Given the description of an element on the screen output the (x, y) to click on. 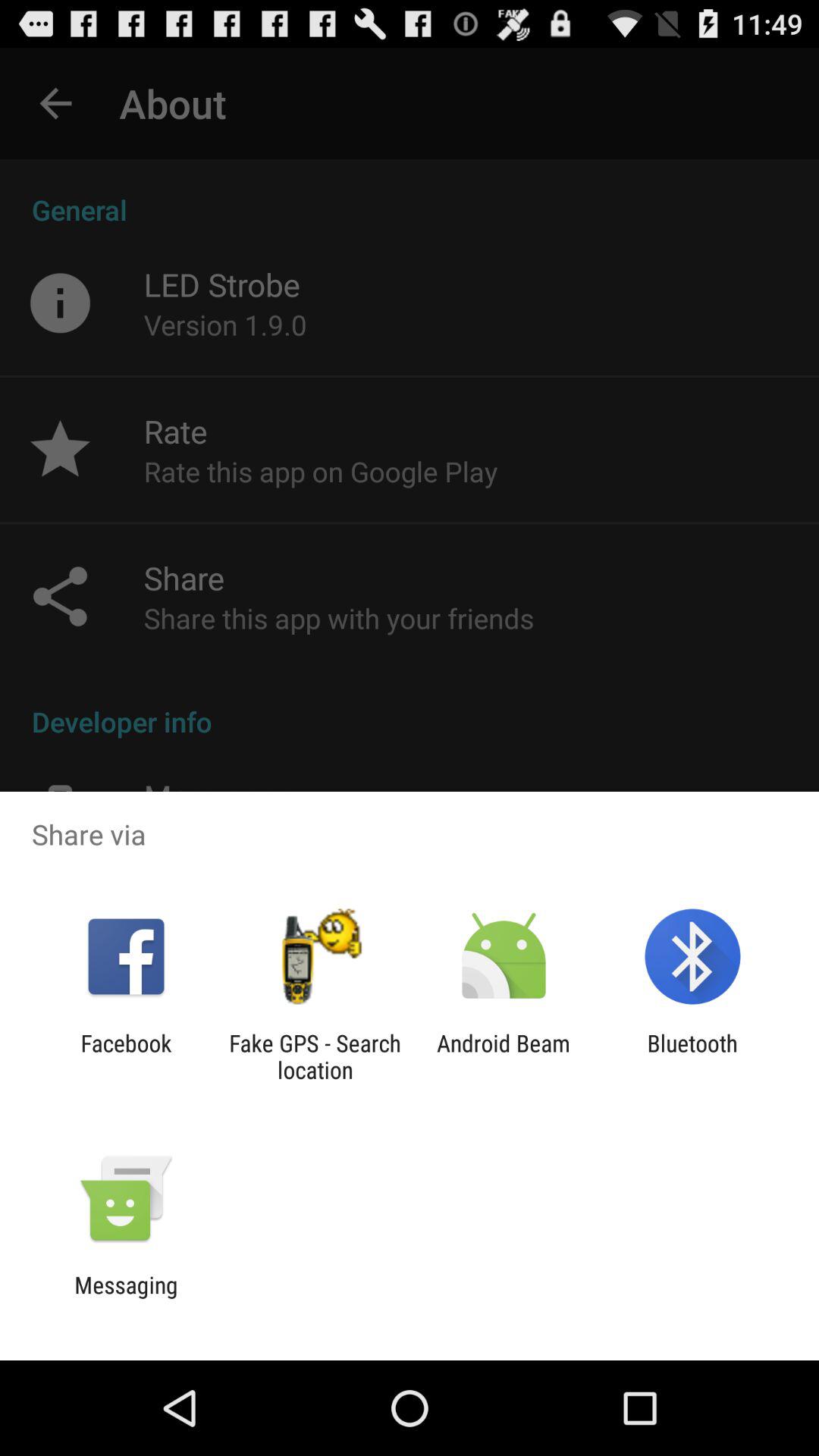
click item next to android beam item (314, 1056)
